Given the description of an element on the screen output the (x, y) to click on. 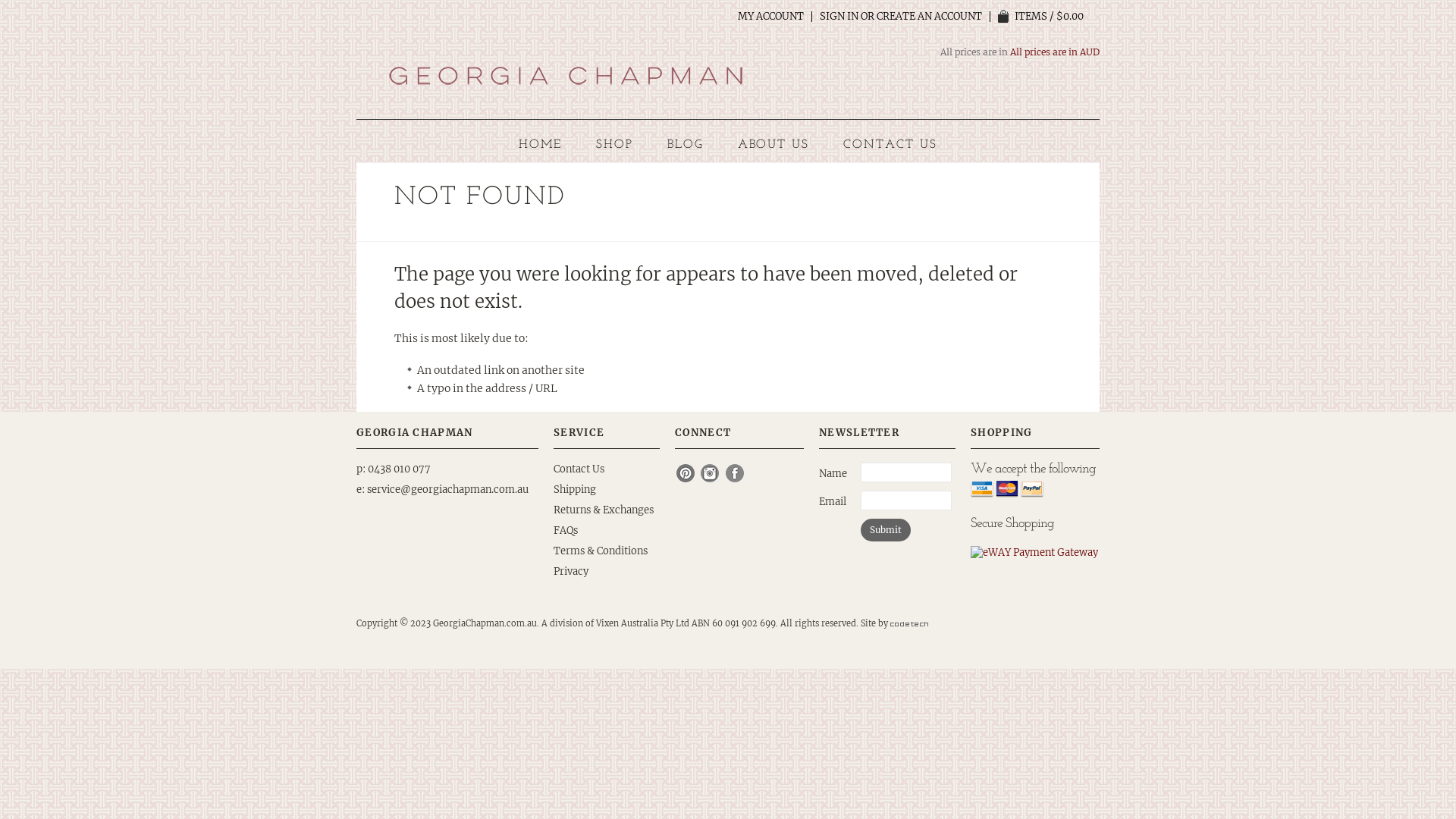
Pinterest Element type: text (685, 472)
CONTACT US Element type: text (889, 144)
FAQs Element type: text (565, 530)
Submit Element type: text (885, 529)
Terms & Conditions Element type: text (600, 550)
CREATE AN ACCOUNT Element type: text (929, 16)
eWAY Payment Gateway Element type: hover (1034, 552)
Returns & Exchanges Element type: text (603, 509)
ABOUT US Element type: text (773, 144)
Shipping Element type: text (574, 489)
BLOG Element type: text (685, 144)
 ITEMS / $0.00 Element type: text (1040, 16)
Instagram Element type: text (710, 472)
SHOP Element type: text (614, 144)
Contact Us Element type: text (578, 468)
Privacy Element type: text (570, 570)
SIGN IN Element type: text (838, 16)
Codetech Web Development Element type: hover (909, 623)
Facebook Element type: text (735, 472)
HOME Element type: text (540, 144)
MY ACCOUNT Element type: text (770, 16)
View Cart Element type: hover (1003, 16)
All prices are in AUD Element type: text (1054, 51)
